Given the description of an element on the screen output the (x, y) to click on. 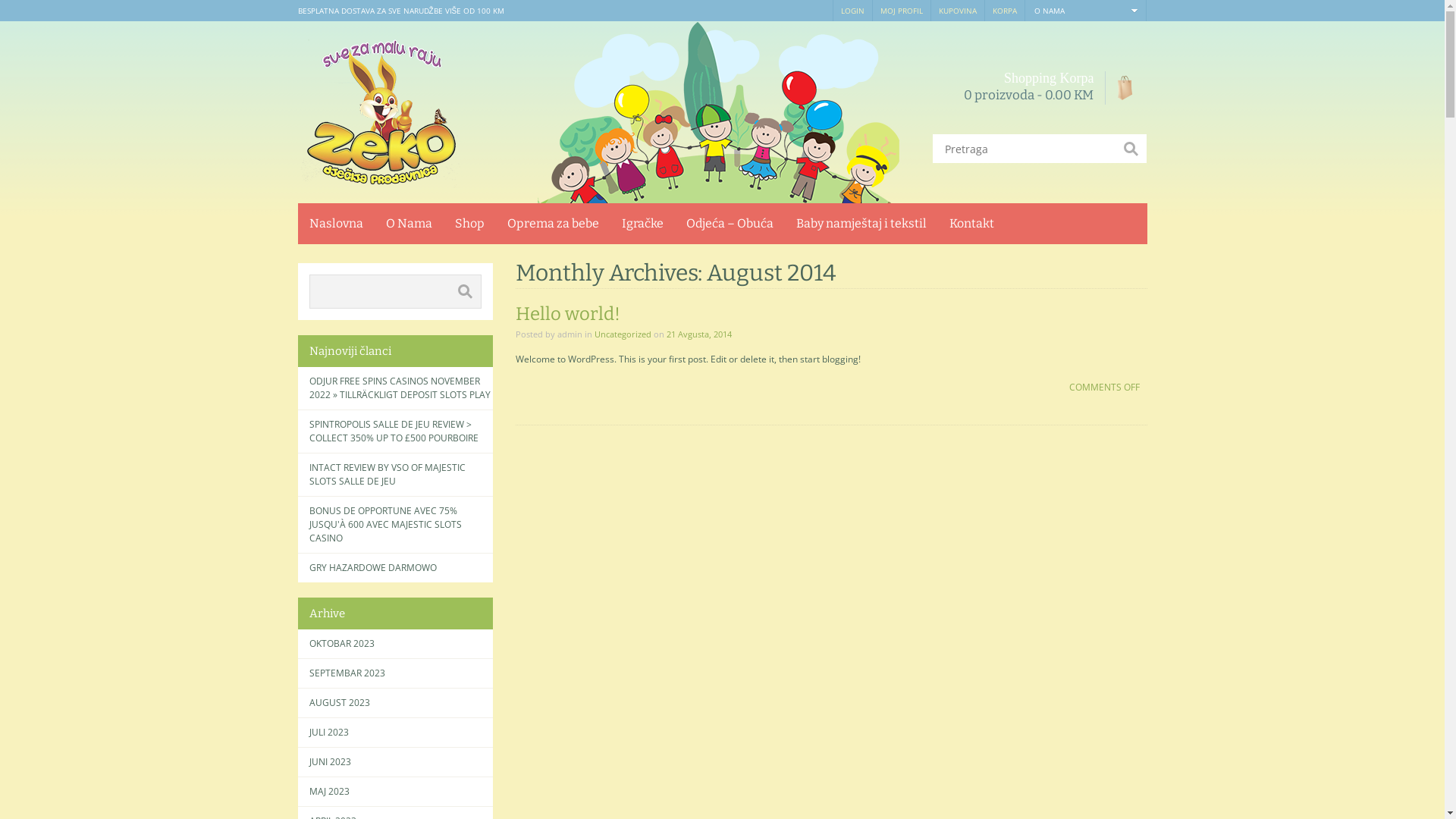
Naslovna Element type: text (335, 223)
KUPOVINA Element type: text (958, 10)
INTACT REVIEW BY VSO OF MAJESTIC SLOTS SALLE DE JEU Element type: text (400, 474)
JULI 2023 Element type: text (328, 732)
GRY HAZARDOWE DARMOWO Element type: text (400, 567)
Zeko.ba Element type: hover (378, 112)
Shop Element type: text (468, 223)
O Nama Element type: text (408, 223)
Oprema za bebe Element type: text (552, 223)
SEPTEMBAR 2023 Element type: text (347, 673)
Hello world! Element type: text (567, 313)
KORPA Element type: text (1005, 10)
MAJ 2023 Element type: text (329, 791)
Uncategorized Element type: text (622, 333)
LOGIN Element type: text (852, 10)
Kontakt Element type: text (970, 223)
MOJ PROFIL Element type: text (901, 10)
Pretraga Element type: text (464, 291)
JUNI 2023 Element type: text (330, 761)
AUGUST 2023 Element type: text (339, 702)
OKTOBAR 2023 Element type: text (341, 643)
COMMENTS OFF Element type: text (1100, 386)
21 Avgusta, 2014 Element type: text (698, 333)
